Given the description of an element on the screen output the (x, y) to click on. 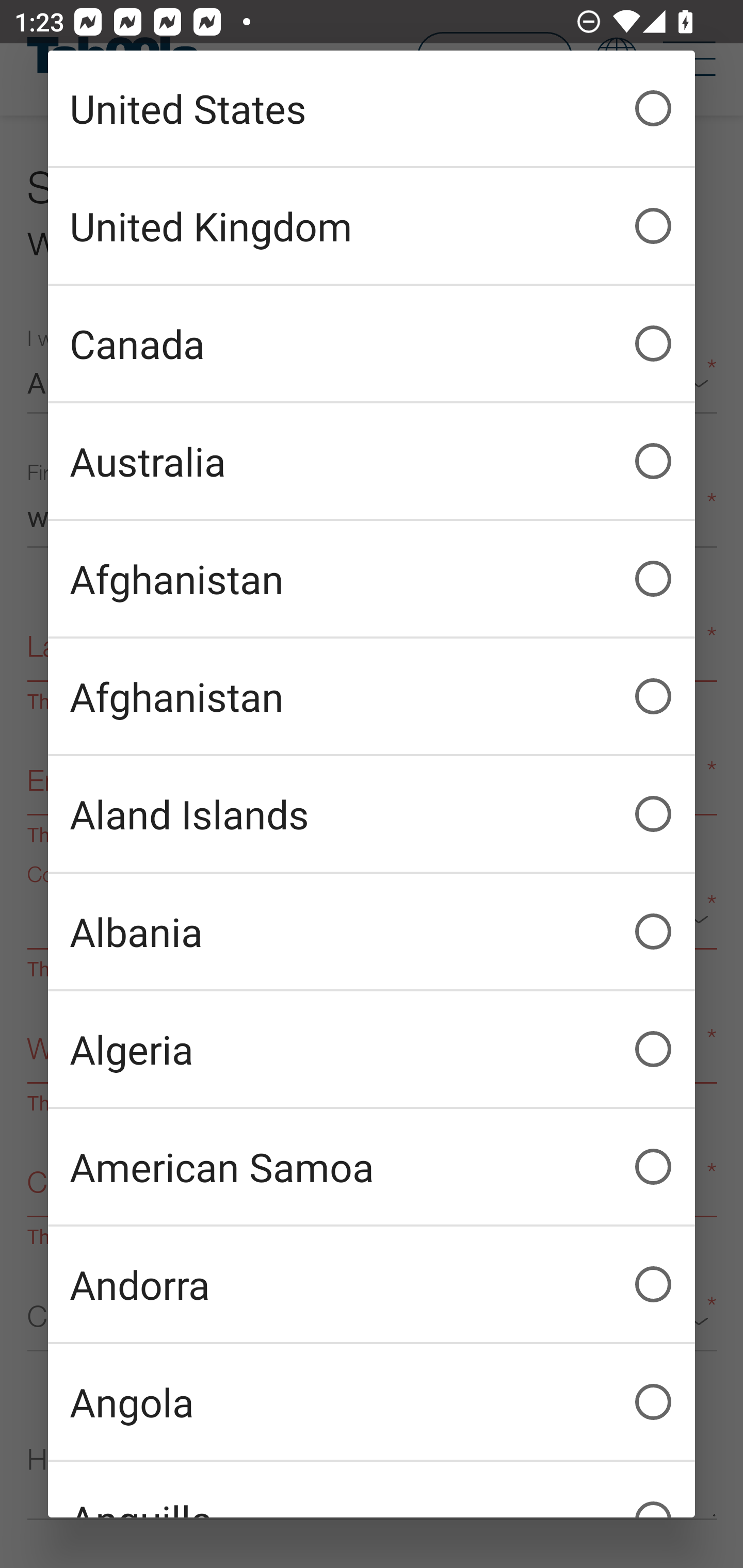
United States (371, 108)
United Kingdom (371, 225)
Canada (371, 343)
Australia (371, 460)
Afghanistan (371, 578)
Afghanistan (371, 696)
Aland Islands (371, 813)
Albania (371, 931)
Algeria (371, 1048)
American Samoa (371, 1166)
Andorra (371, 1284)
Angola (371, 1401)
